Given the description of an element on the screen output the (x, y) to click on. 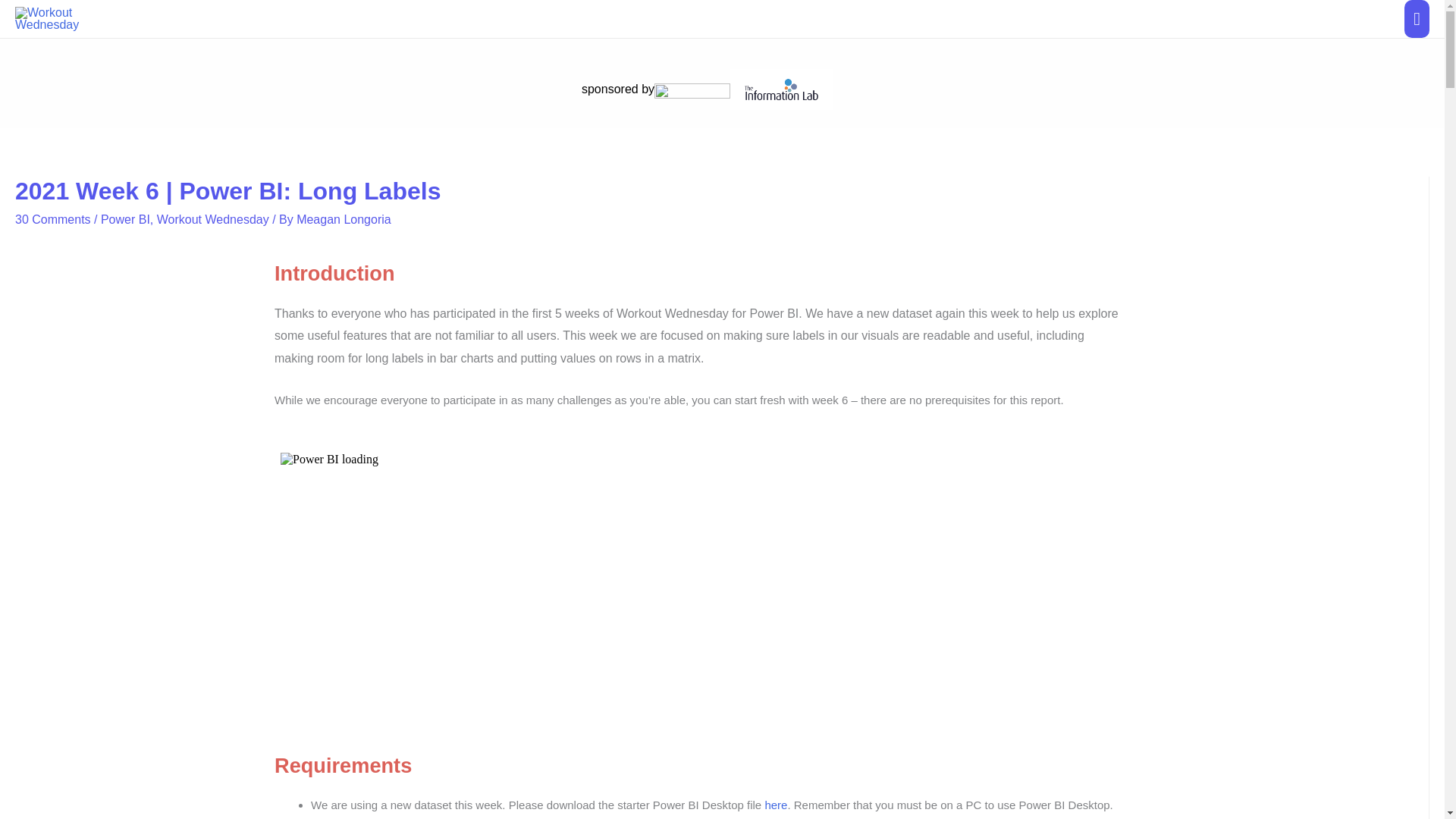
View all posts by Meagan Longoria (344, 219)
30 Comments (52, 219)
Workout Wednesday (213, 219)
Meagan Longoria (344, 219)
Power BI (124, 219)
here (775, 804)
